Given the description of an element on the screen output the (x, y) to click on. 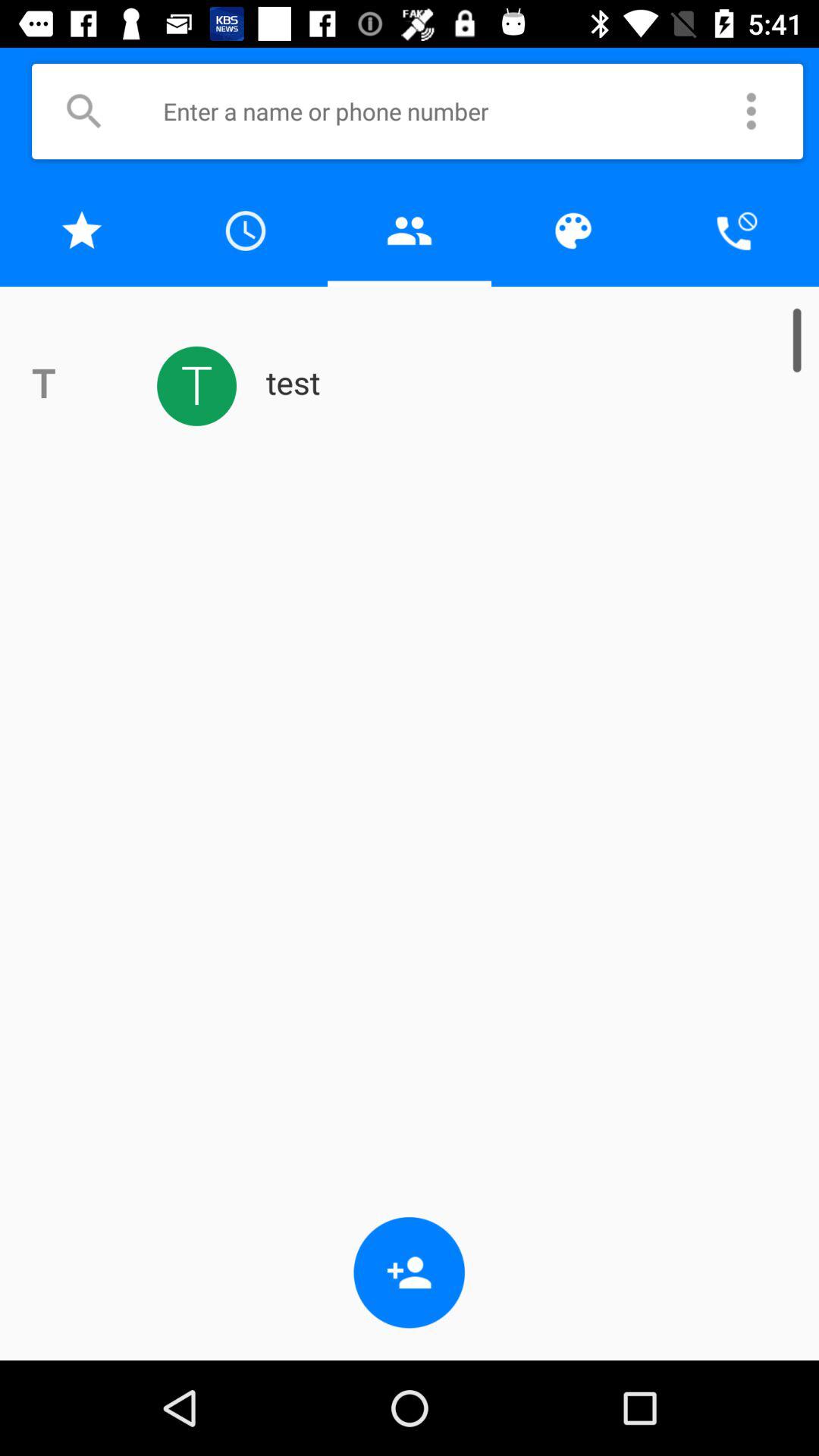
call (737, 230)
